Given the description of an element on the screen output the (x, y) to click on. 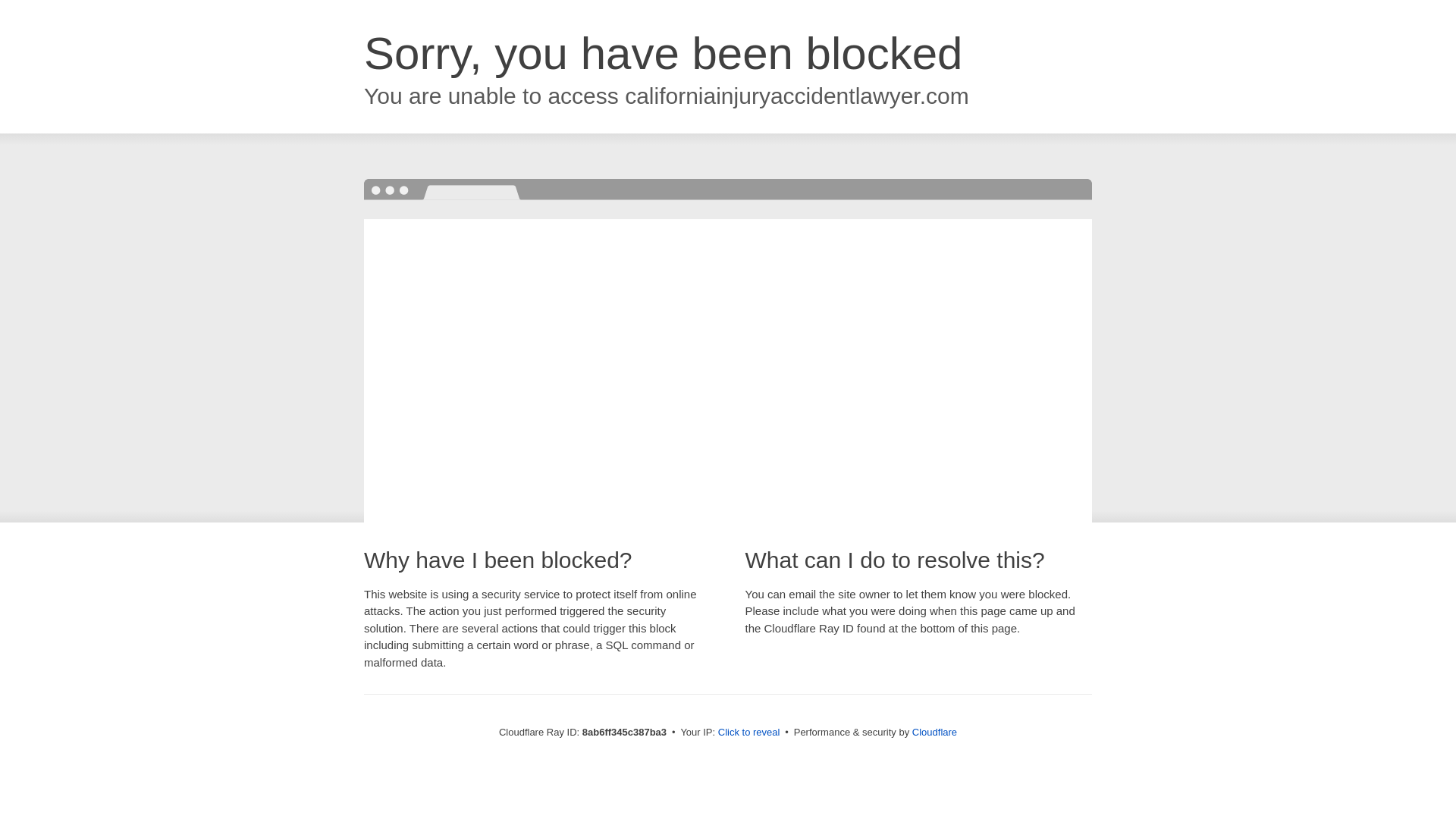
Cloudflare (934, 731)
Click to reveal (748, 732)
